Given the description of an element on the screen output the (x, y) to click on. 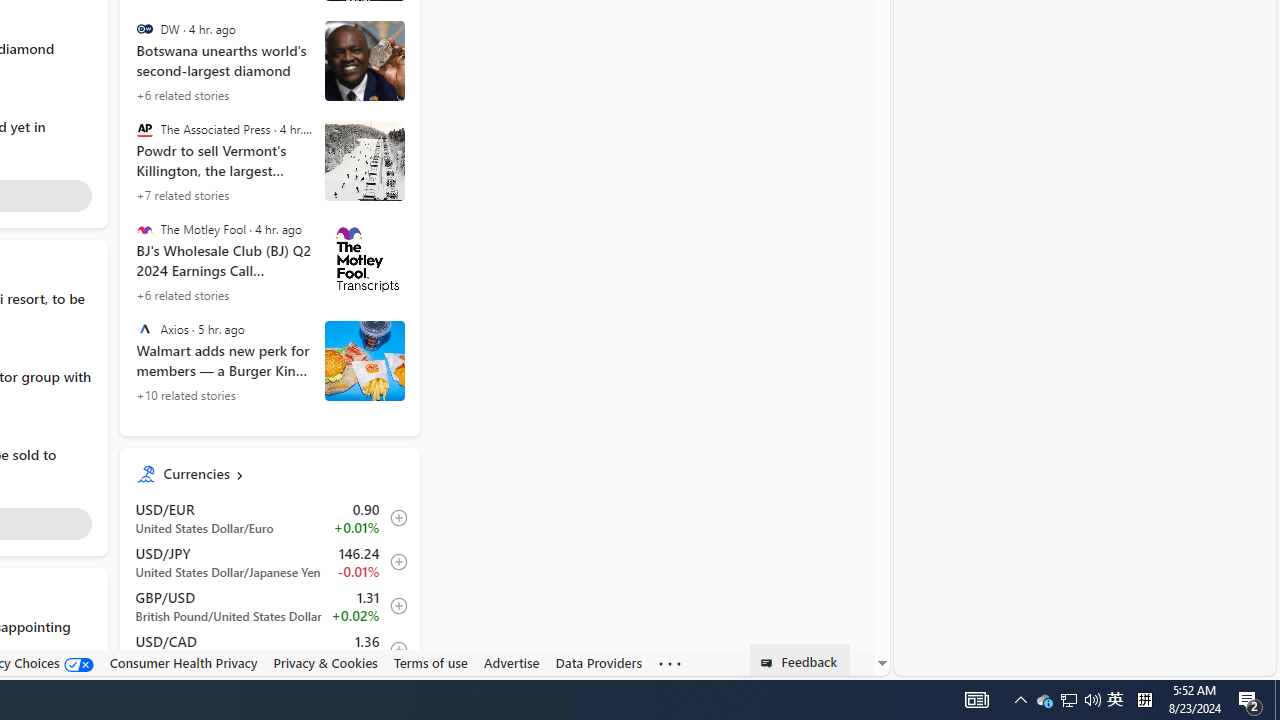
Currencies (283, 474)
The Associated Press (144, 129)
The Motley Fool (144, 229)
Axios (144, 329)
Class: oneFooter_seeMore-DS-EntryPoint1-1 (669, 663)
Privacy & Cookies (324, 663)
